Given the description of an element on the screen output the (x, y) to click on. 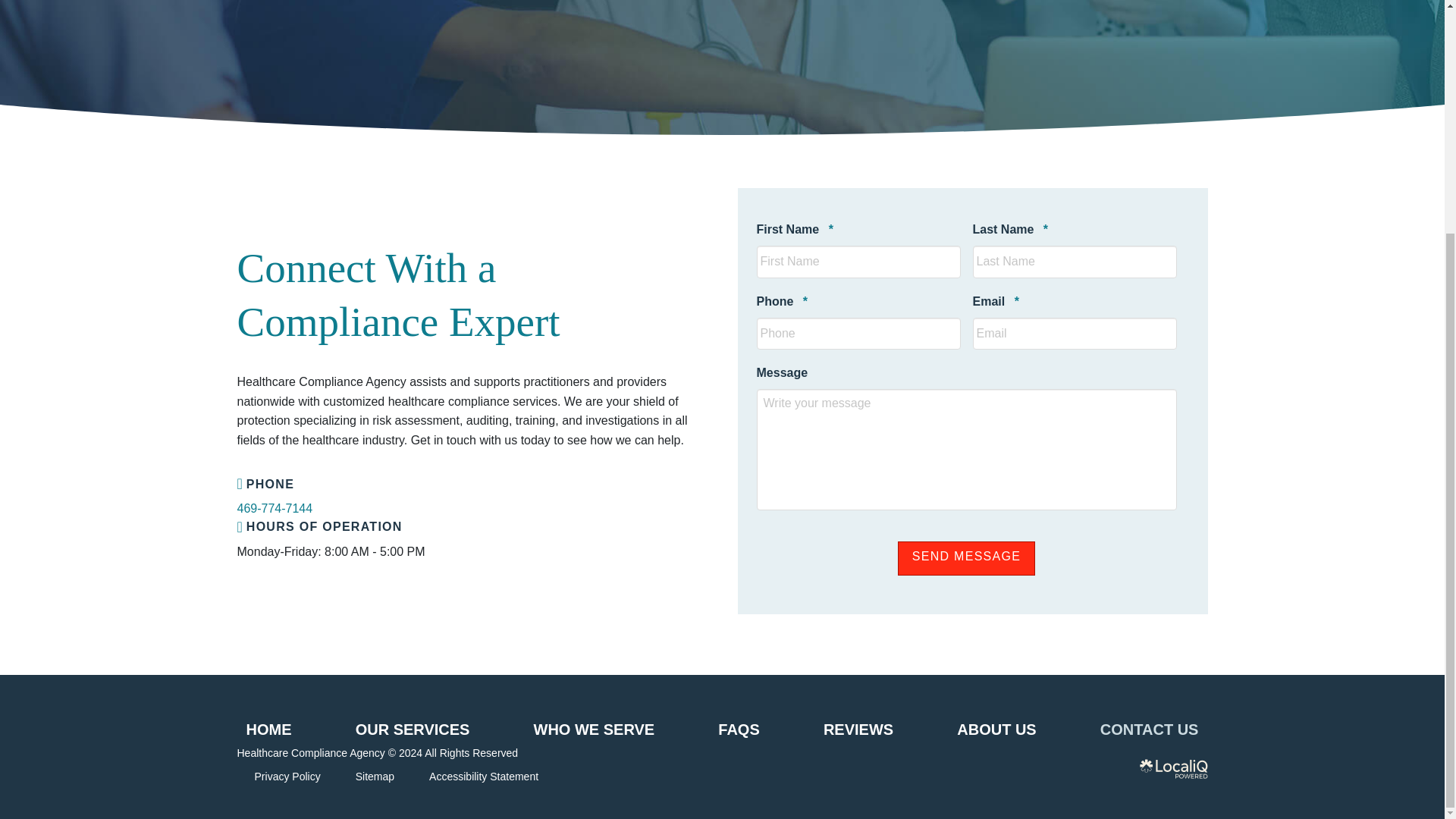
Privacy Policy (288, 776)
ABOUT US (996, 729)
FAQS (738, 729)
Send Message (966, 558)
469-774-7144 (274, 508)
REVIEWS (857, 729)
Accessibility Statement (483, 776)
WHO WE SERVE (593, 729)
Sitemap (374, 776)
Send Message (966, 558)
CONTACT US (1149, 729)
HOME (267, 729)
OUR SERVICES (412, 729)
